Given the description of an element on the screen output the (x, y) to click on. 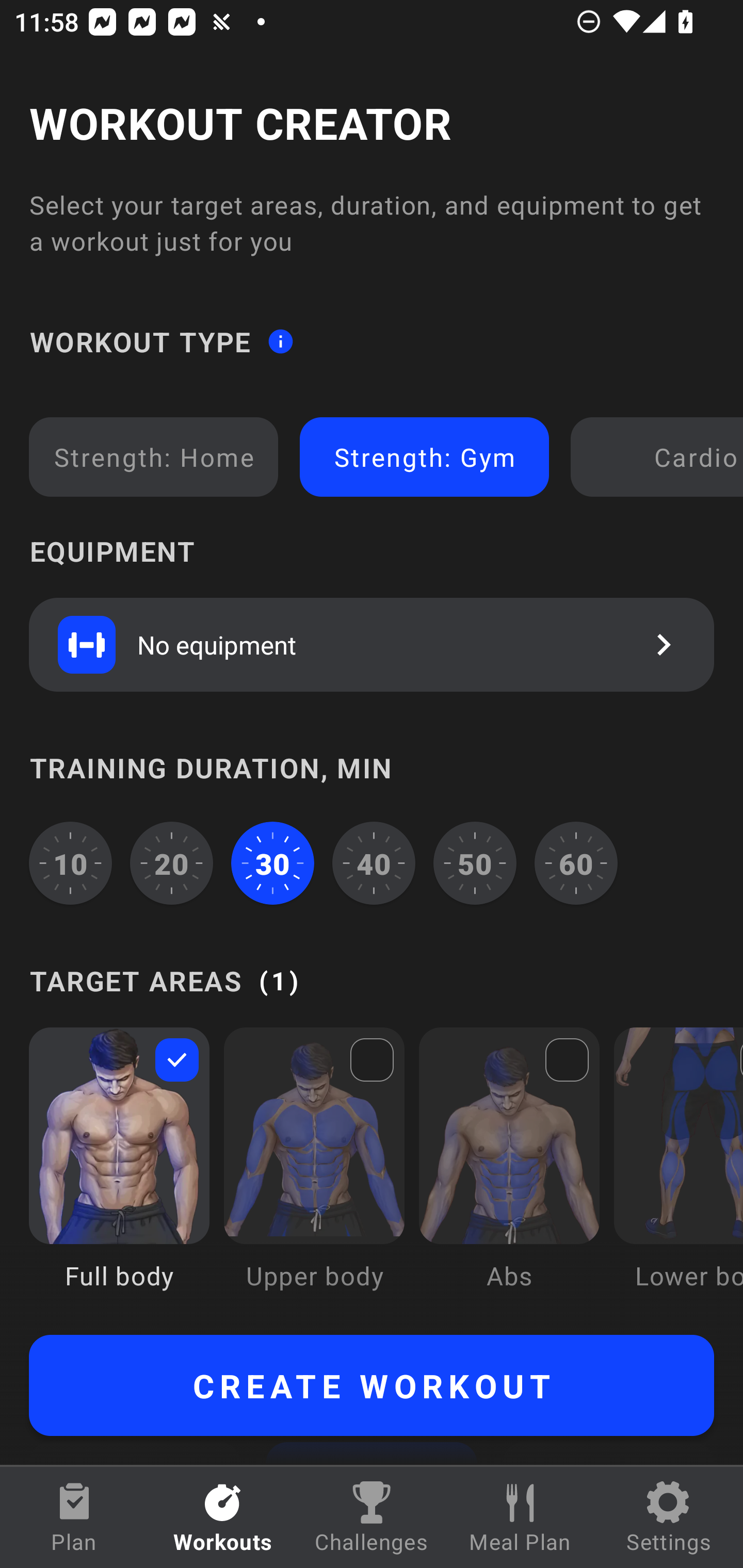
Workout type information button (280, 340)
Strength: Home (153, 457)
Cardio (660, 457)
No equipment (371, 644)
10 (70, 863)
20 (171, 863)
30 (272, 863)
40 (373, 863)
50 (474, 863)
60 (575, 863)
Upper body (313, 1172)
Abs (509, 1172)
Lower body (678, 1172)
CREATE WORKOUT (371, 1385)
 Plan  (74, 1517)
 Challenges  (371, 1517)
 Meal Plan  (519, 1517)
 Settings  (668, 1517)
